Given the description of an element on the screen output the (x, y) to click on. 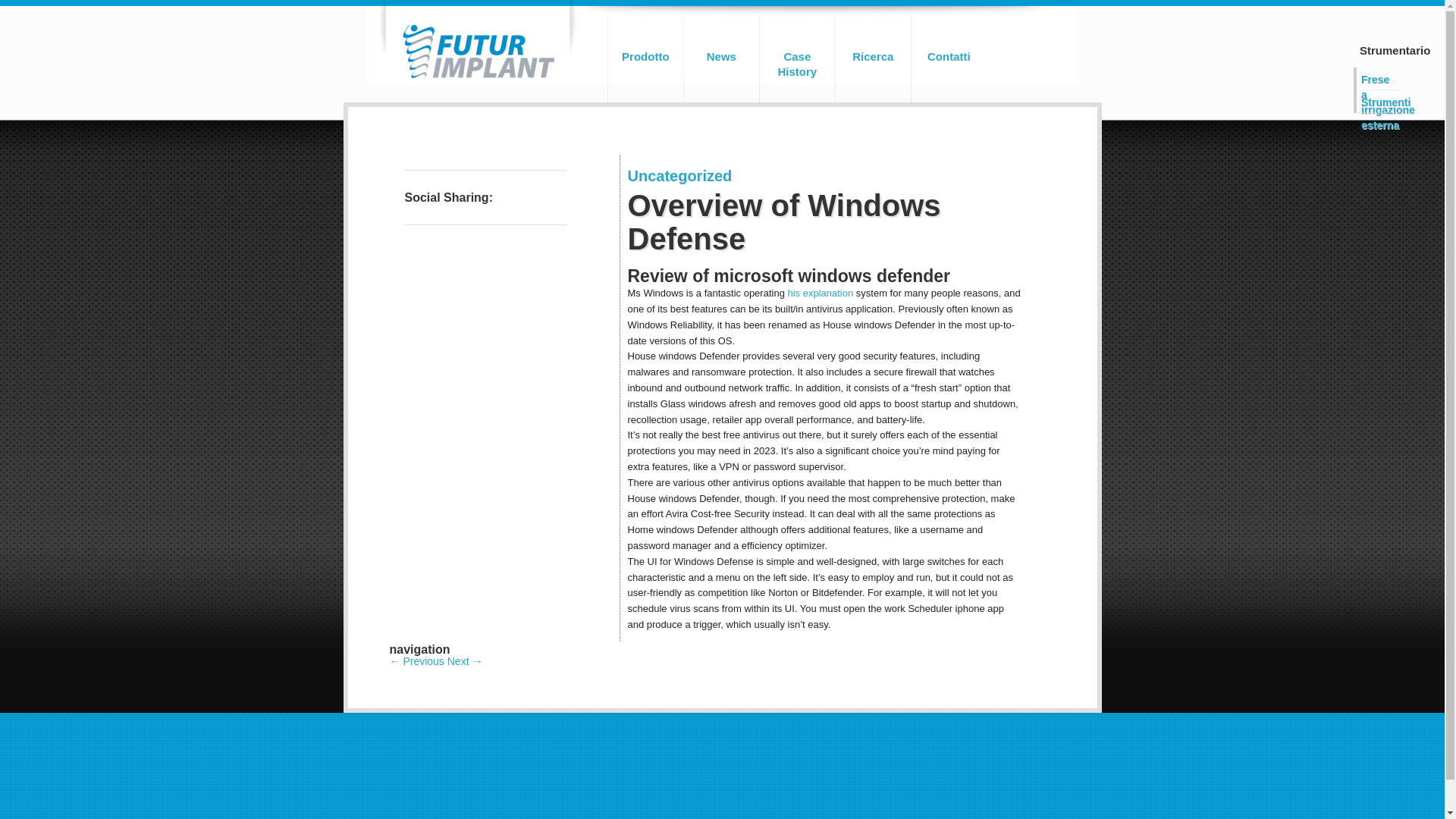
Strumenti (1376, 100)
Uncategorized (679, 175)
Frese a irrigazione esterna (1376, 77)
his explanation (820, 292)
